Given the description of an element on the screen output the (x, y) to click on. 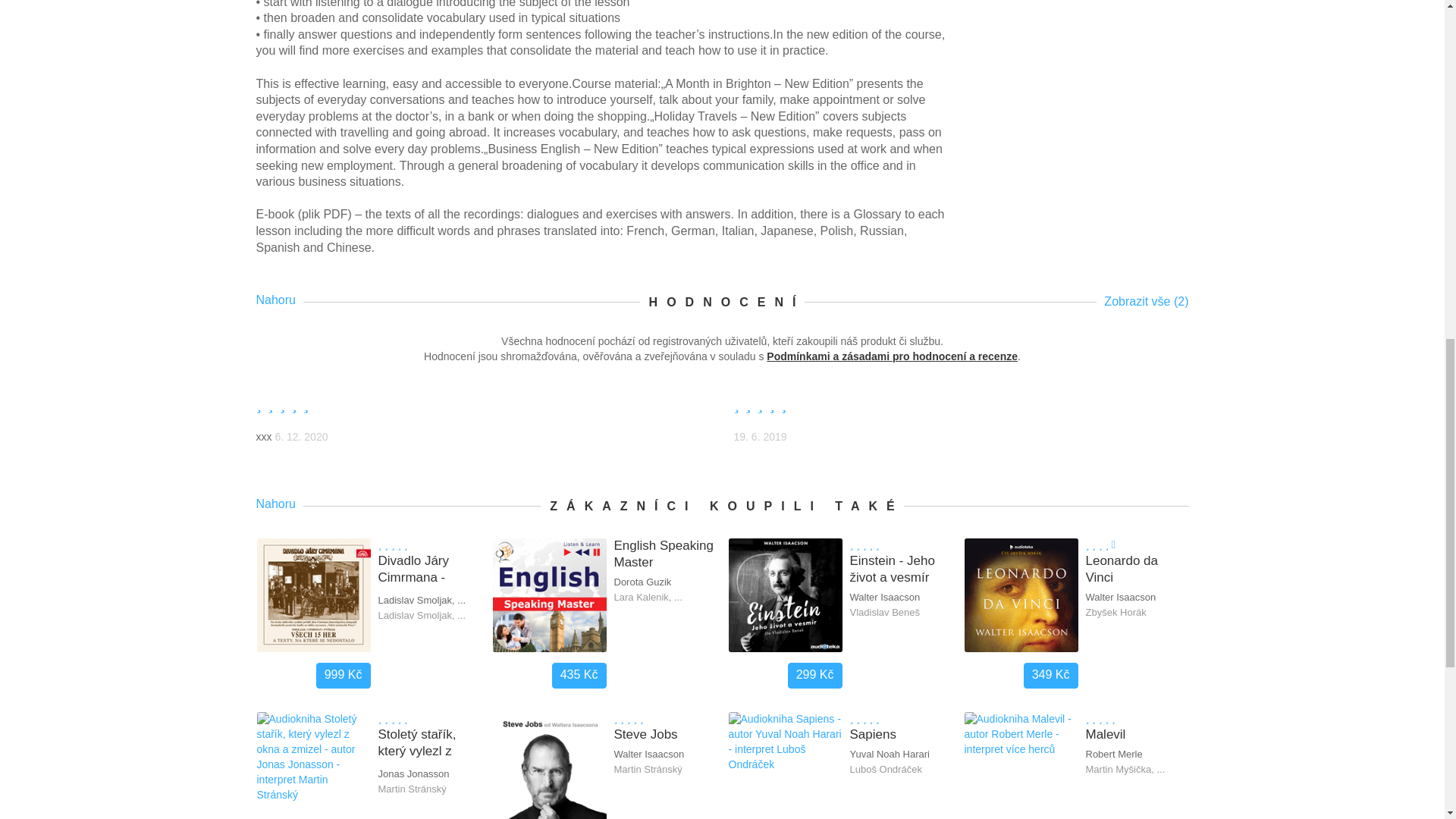
Nahoru (279, 299)
Nahoru (279, 504)
Leonardo da Vinci (1137, 569)
Malevil (1137, 734)
Steve Jobs (665, 734)
Sapiens (900, 734)
English Speaking Master (665, 553)
